Given the description of an element on the screen output the (x, y) to click on. 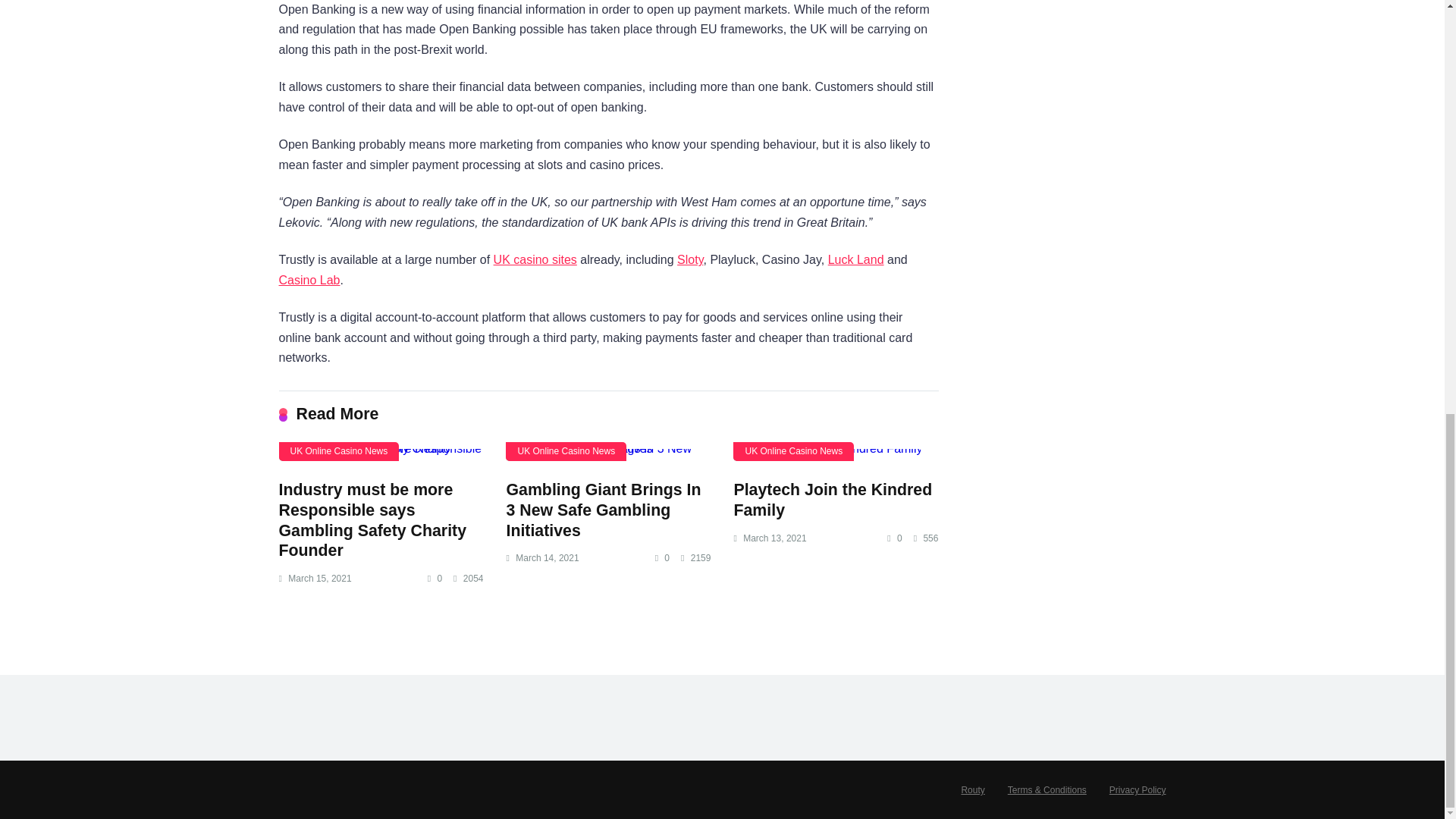
Casino Lab (309, 279)
Gambling Giant Brings In 3 New Safe Gambling Initiatives (602, 509)
UK Online Casino News (793, 451)
Gambling Giant Brings In 3 New Safe Gambling Initiatives (607, 454)
Luck Land (855, 259)
Gambling Giant Brings In 3 New Safe Gambling Initiatives (602, 509)
UK Online Casino News (565, 451)
UK Online Casino News (338, 451)
Playtech Join the Kindred Family (835, 454)
Sloty (690, 259)
Playtech Join the Kindred Family (832, 499)
UK casino sites (534, 259)
